Given the description of an element on the screen output the (x, y) to click on. 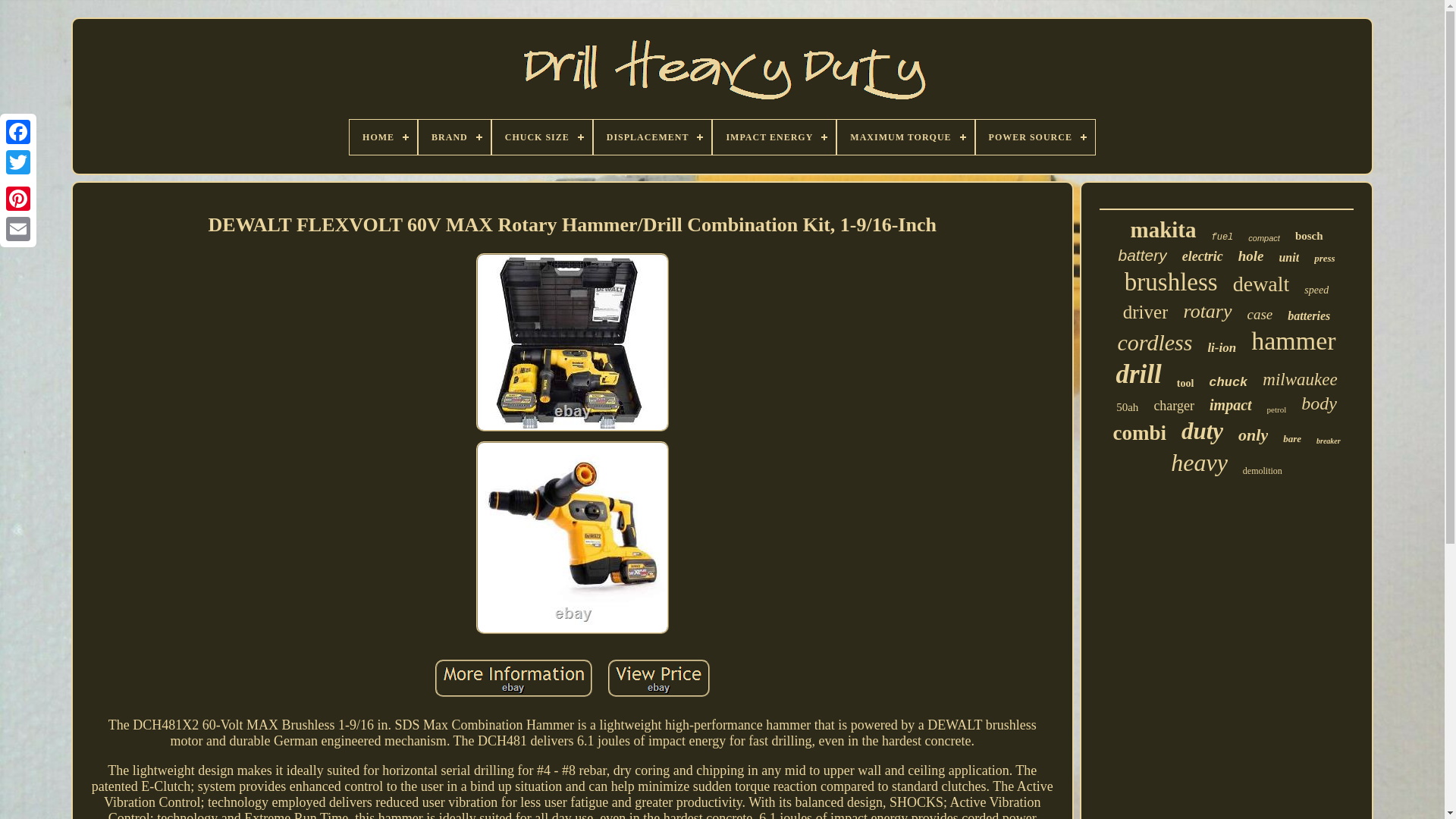
CHUCK SIZE (542, 136)
BRAND (454, 136)
HOME (382, 136)
